Given the description of an element on the screen output the (x, y) to click on. 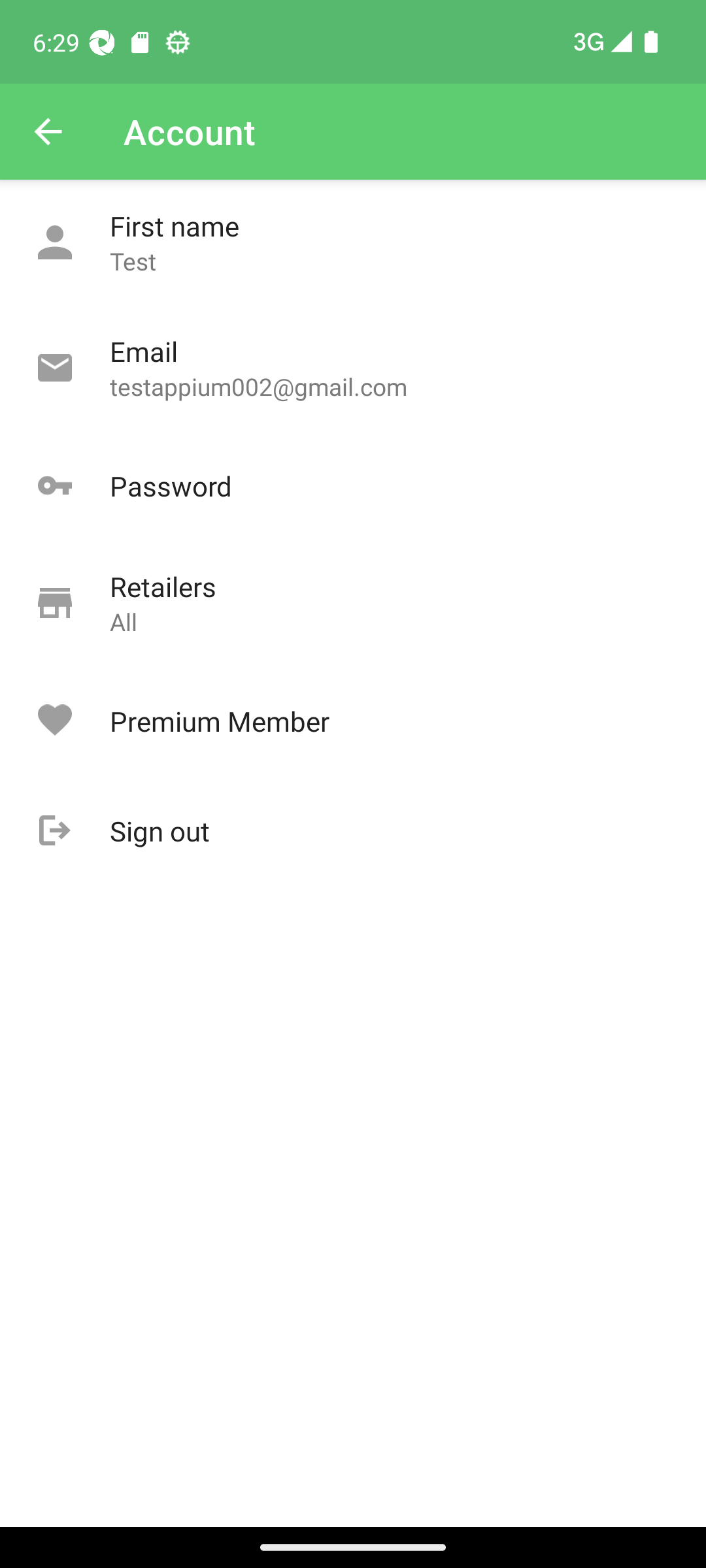
Navigate up (48, 131)
First name Test (353, 242)
Email testappium002@gmail.com (353, 368)
Password (353, 485)
Retailers All (353, 603)
Premium Member (353, 721)
Sign out (353, 830)
